Given the description of an element on the screen output the (x, y) to click on. 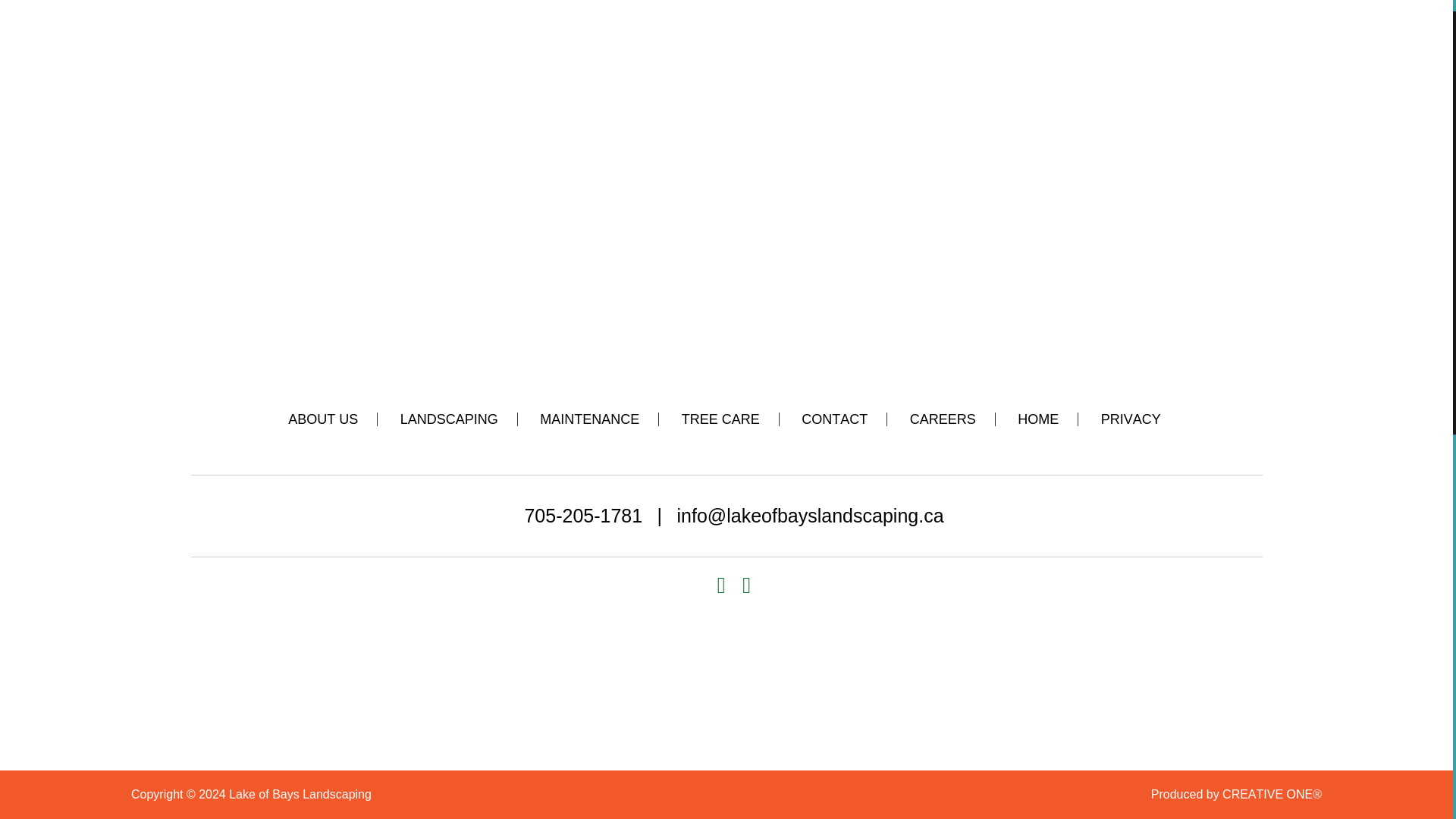
TREE CARE (720, 418)
705-205-1781 (583, 515)
LANDSCAPING (448, 418)
HOME (1037, 418)
CONTACT (834, 418)
ABOUT US (323, 418)
PRIVACY (1130, 418)
CAREERS (942, 418)
MAINTENANCE (589, 418)
